Given the description of an element on the screen output the (x, y) to click on. 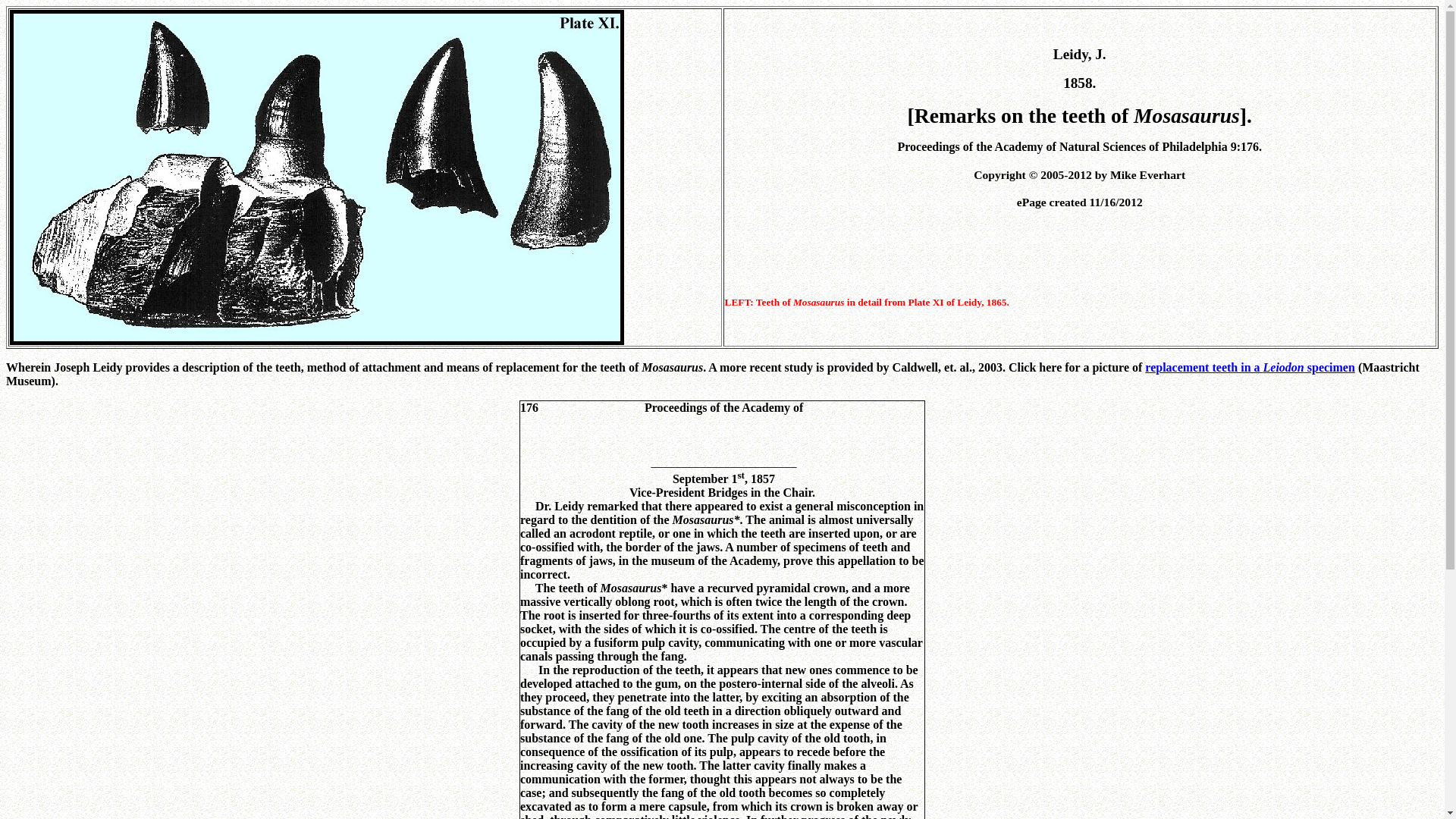
replacement teeth in a Leiodon specimen (1249, 367)
